Given the description of an element on the screen output the (x, y) to click on. 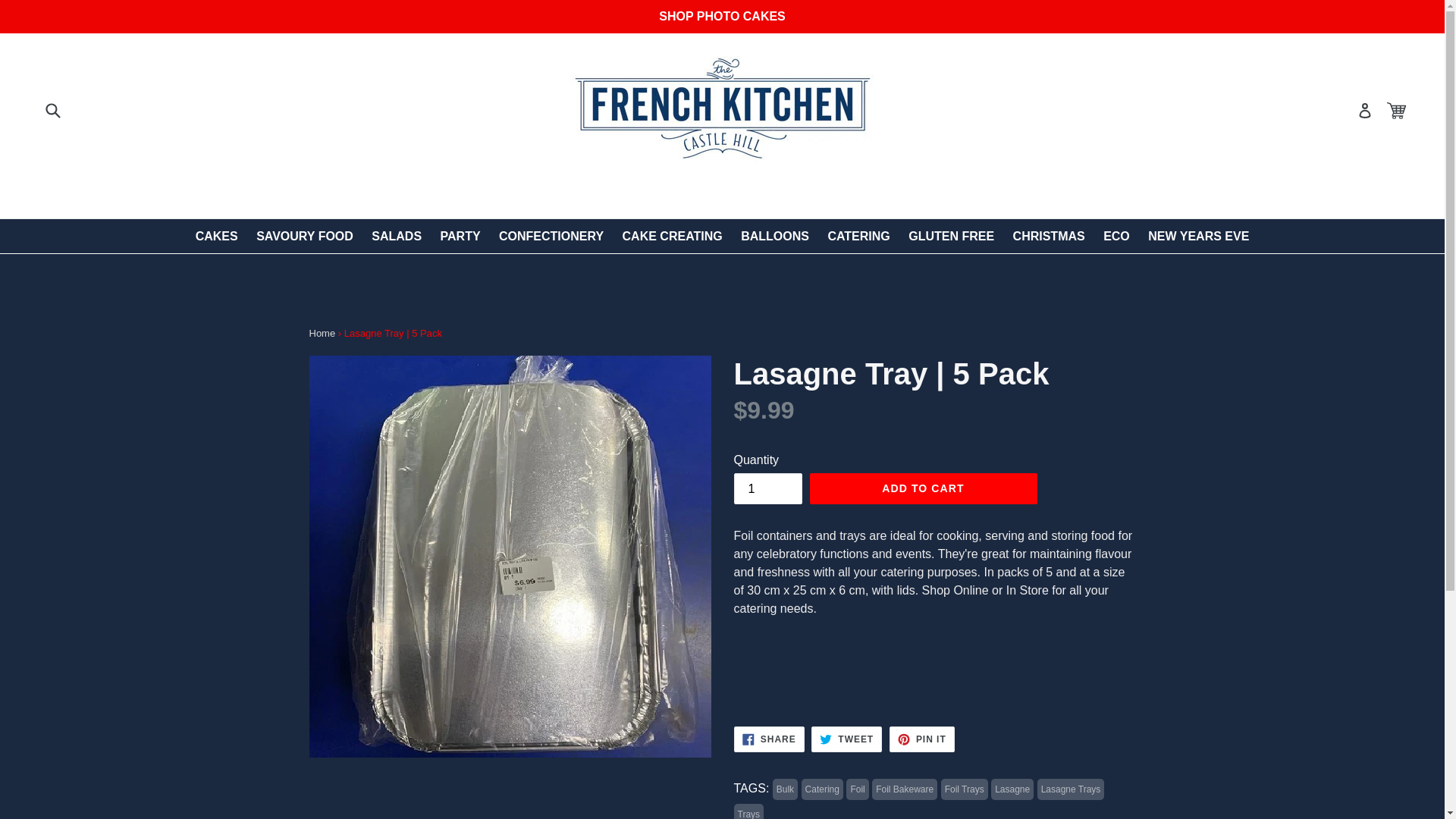
ADD TO CART (922, 489)
CONFECTIONERY (551, 235)
Tweet on Twitter (846, 739)
ECO (769, 739)
NEW YEARS EVE (1116, 235)
PARTY (1198, 235)
SALADS (459, 235)
CAKE CREATING (396, 235)
SAVOURY FOOD (672, 235)
CAKES (304, 235)
CATERING (216, 235)
BALLOONS (857, 235)
GLUTEN FREE (774, 235)
Pin on Pinterest (951, 235)
